Given the description of an element on the screen output the (x, y) to click on. 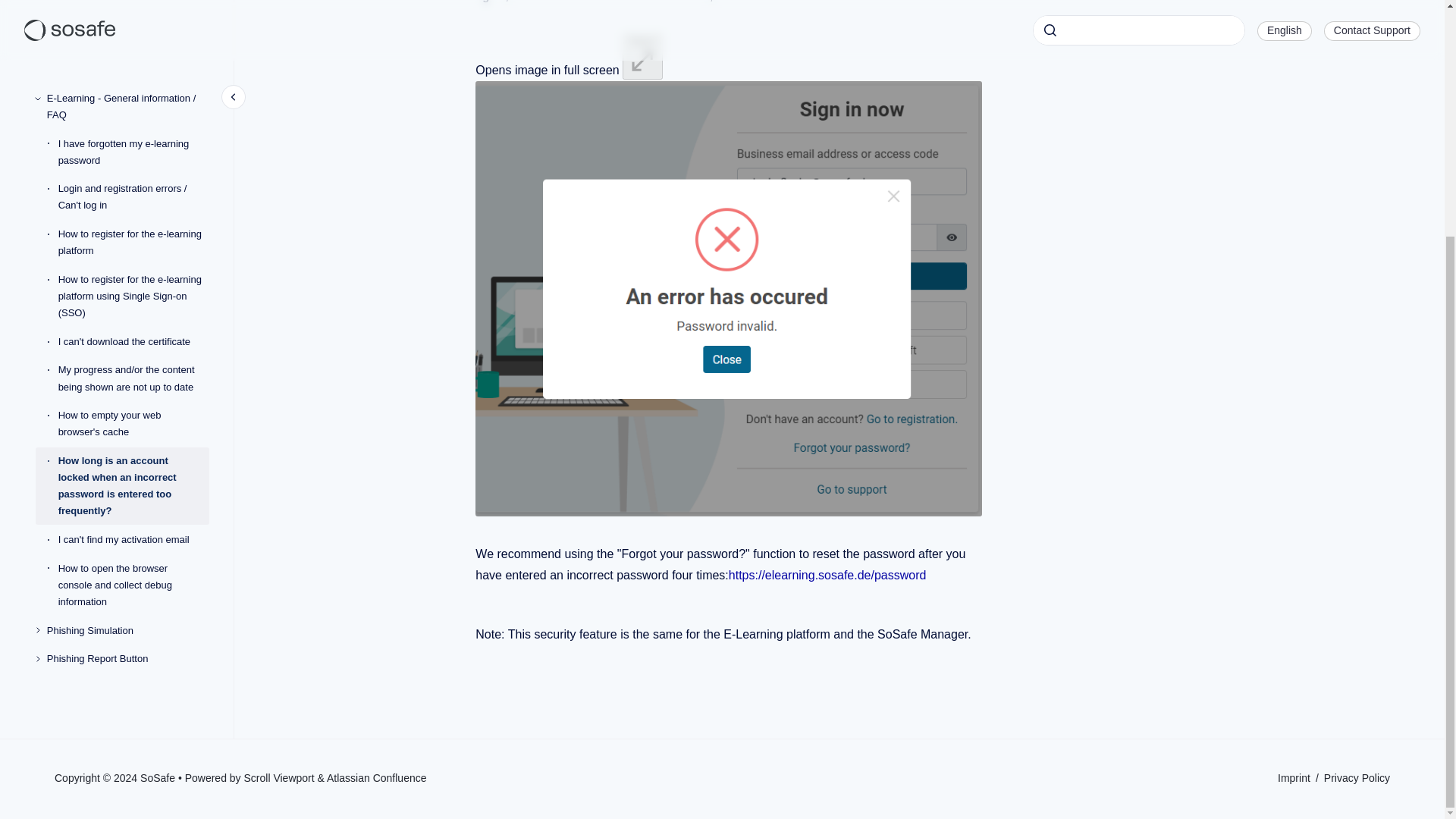
Atlassian Confluence (376, 777)
I can't find my activation email (133, 217)
I can't download the certificate (133, 20)
Phishing Report Button (127, 337)
Phishing Simulation (127, 308)
How to empty your web browser's cache (133, 102)
Privacy Policy (1356, 777)
Imprint (1295, 777)
Scroll Viewport (280, 777)
